Given the description of an element on the screen output the (x, y) to click on. 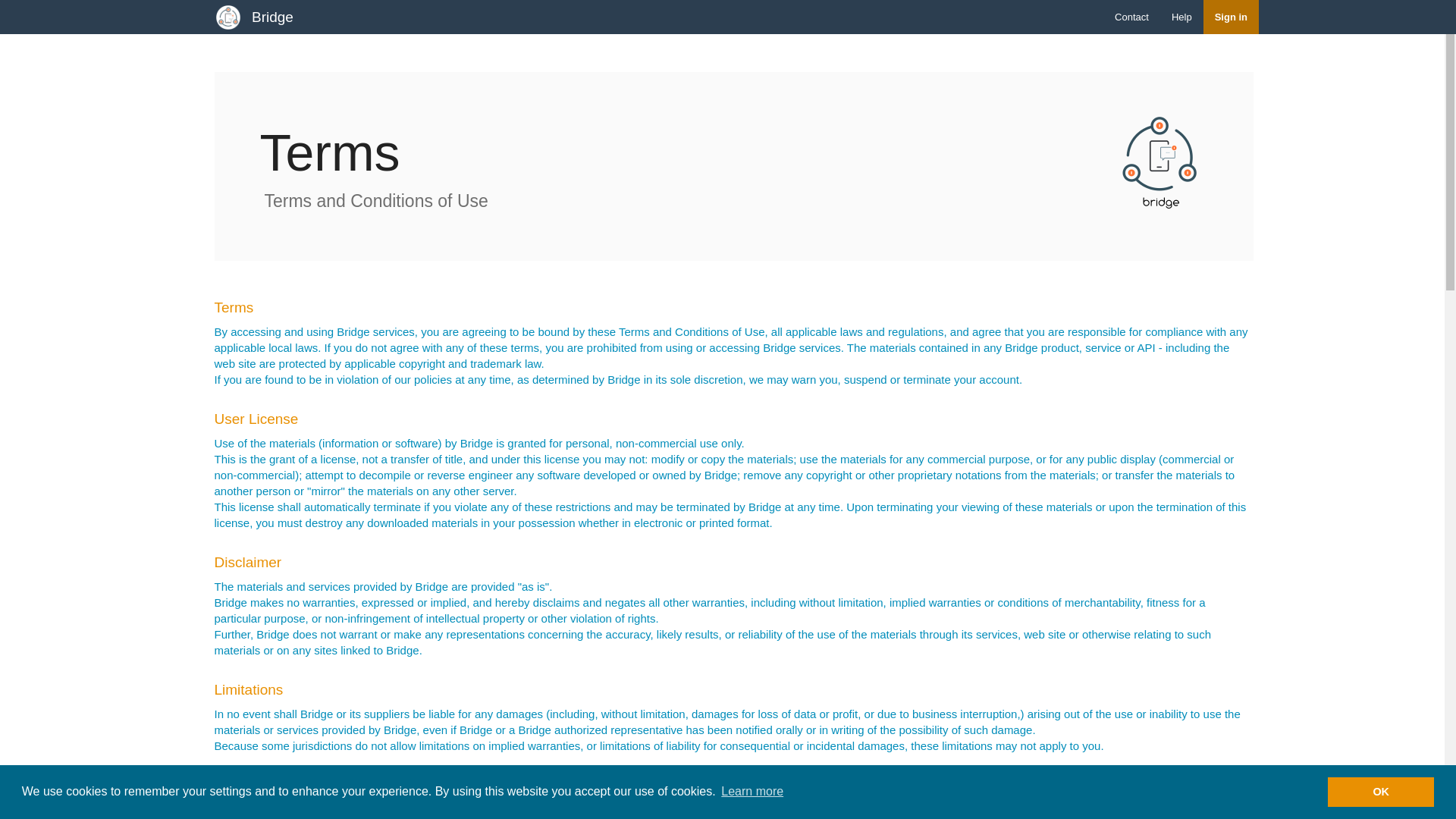
Sign in (1231, 17)
Contact us (1131, 17)
Contact (1131, 17)
Help (1182, 17)
Bridge (272, 17)
Learn more (752, 791)
OK (1380, 791)
